Given the description of an element on the screen output the (x, y) to click on. 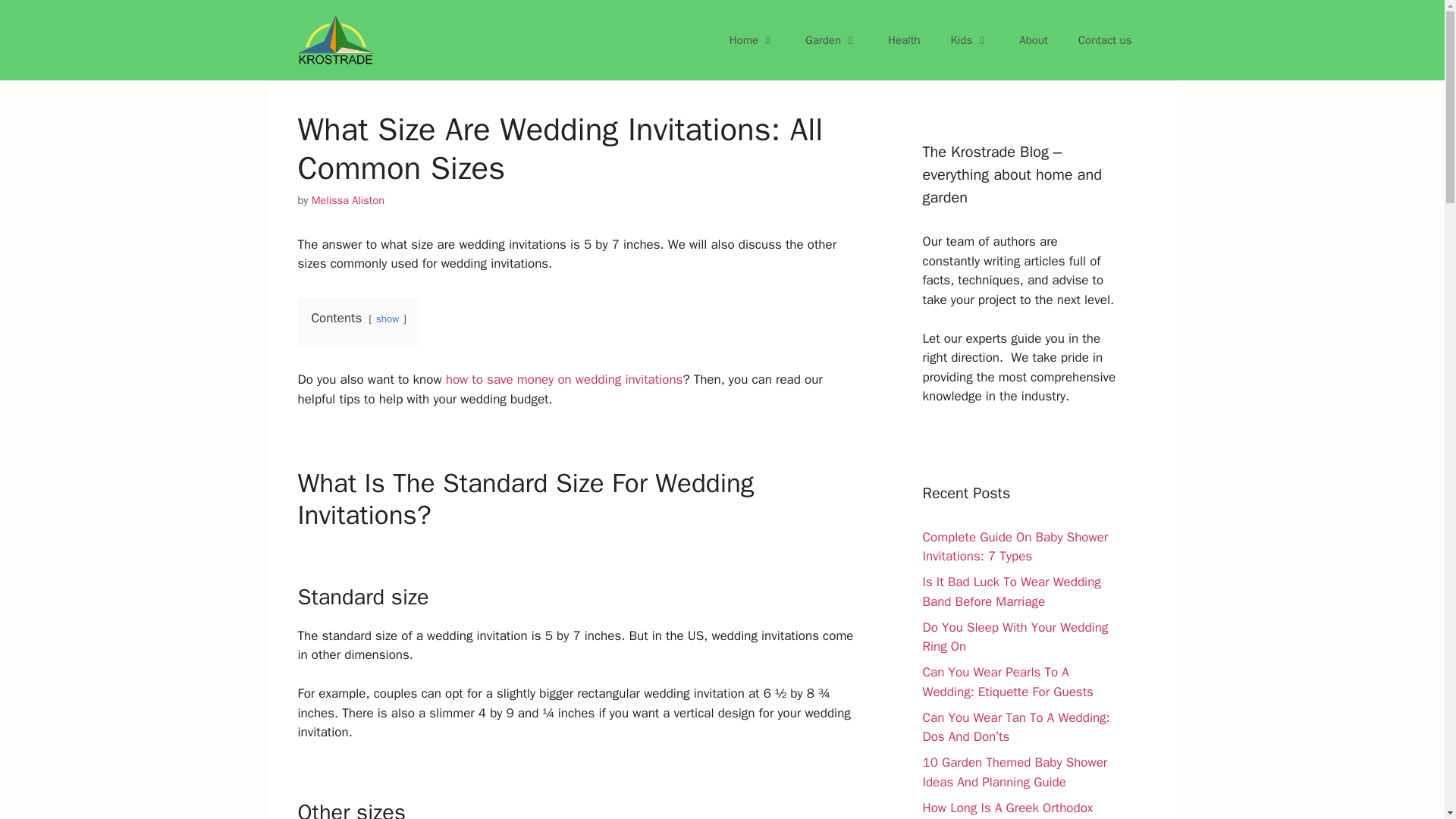
Garden (831, 40)
About (1033, 40)
View all posts by Melissa Aliston (347, 200)
Home (752, 40)
show (386, 318)
Health (904, 40)
Kids (970, 40)
Melissa Aliston (347, 200)
Contact us (1104, 40)
